Given the description of an element on the screen output the (x, y) to click on. 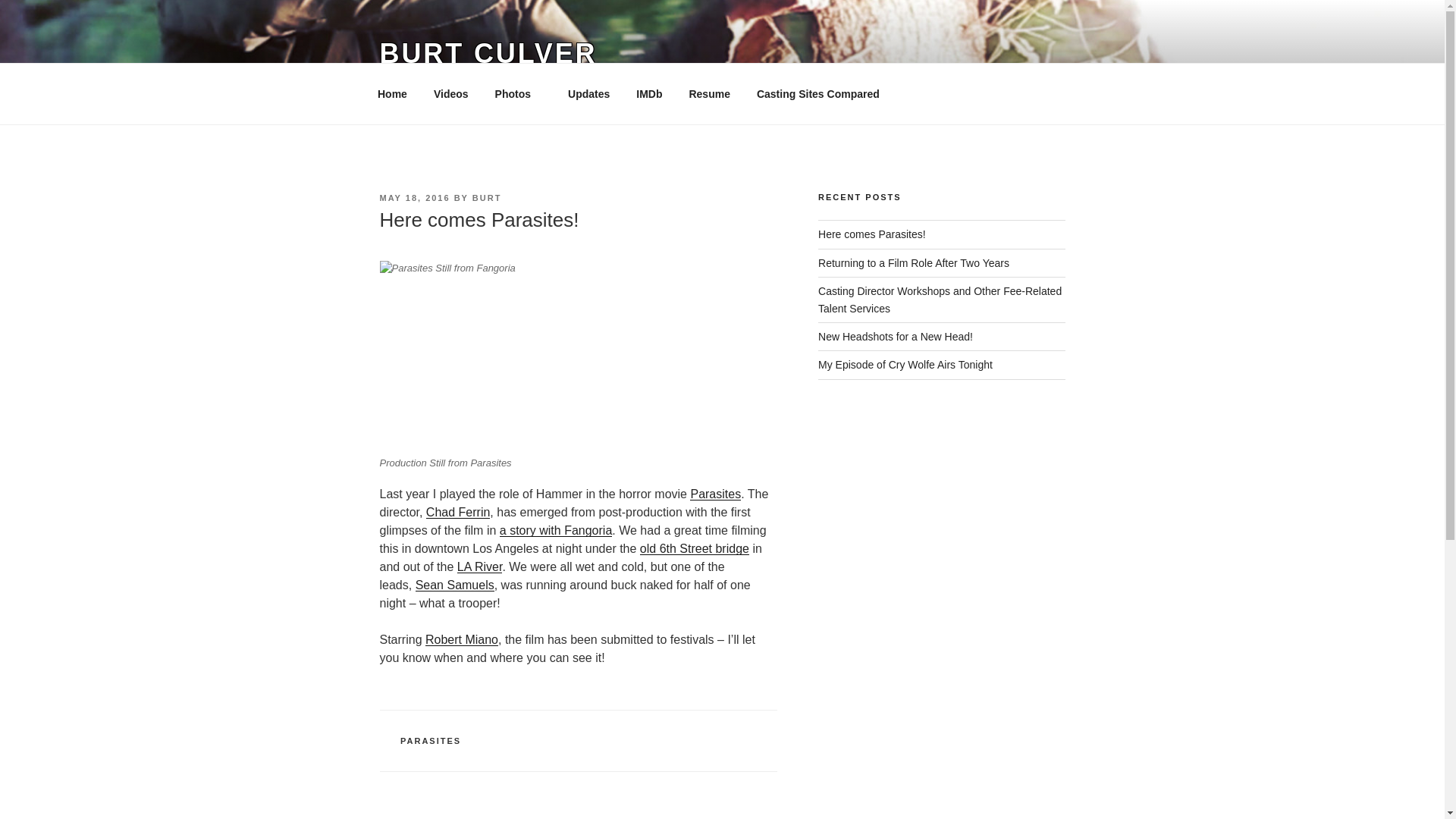
Here comes Parasites! (872, 234)
MAY 18, 2016 (413, 197)
Sean Samuels (454, 584)
old 6th Street bridge (694, 548)
Chad Ferrin (457, 512)
BURT CULVER (487, 52)
LA River (479, 566)
a story with Fangoria (555, 530)
Updates (588, 94)
Photos (517, 94)
